Given the description of an element on the screen output the (x, y) to click on. 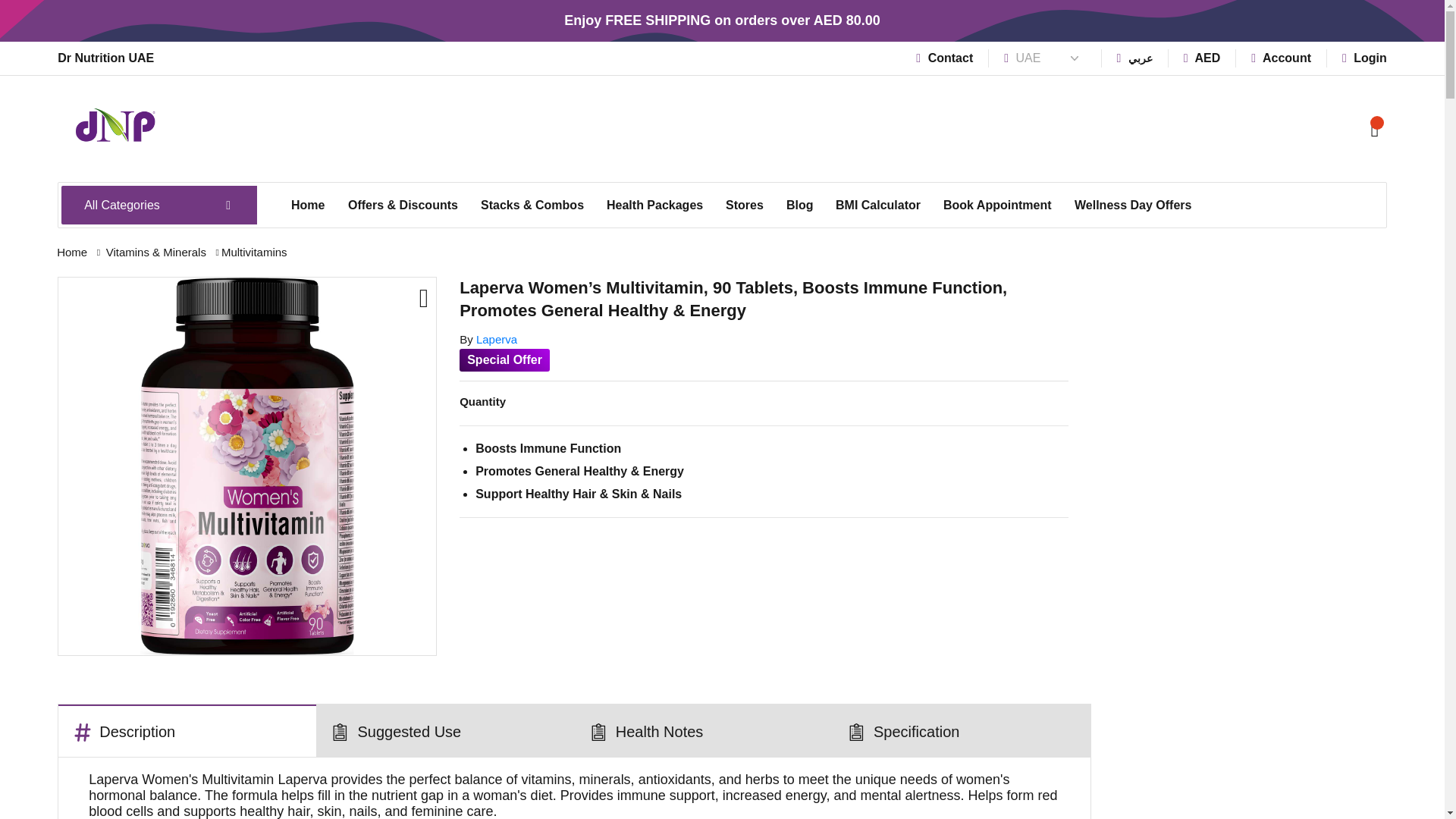
Health Packages (654, 205)
Stores (744, 205)
AED (1201, 58)
Home (307, 205)
Contact (943, 58)
Contact (943, 58)
Account (1280, 58)
Account (1280, 58)
Login (1364, 58)
Login (1364, 58)
AED (1201, 58)
